Given the description of an element on the screen output the (x, y) to click on. 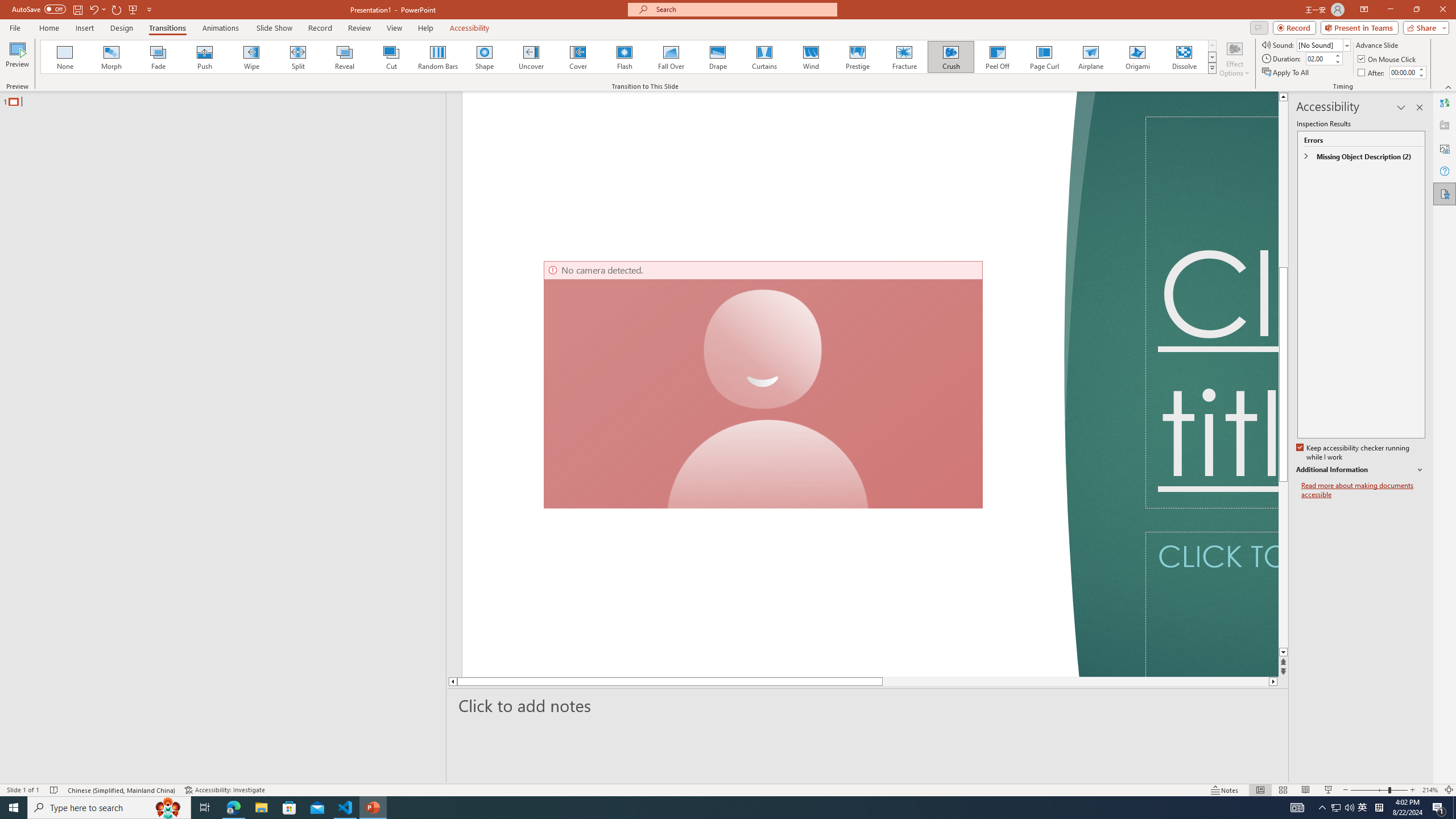
Dissolve (1183, 56)
Fall Over (670, 56)
Cover (577, 56)
Airplane (1090, 56)
Flash (624, 56)
